Given the description of an element on the screen output the (x, y) to click on. 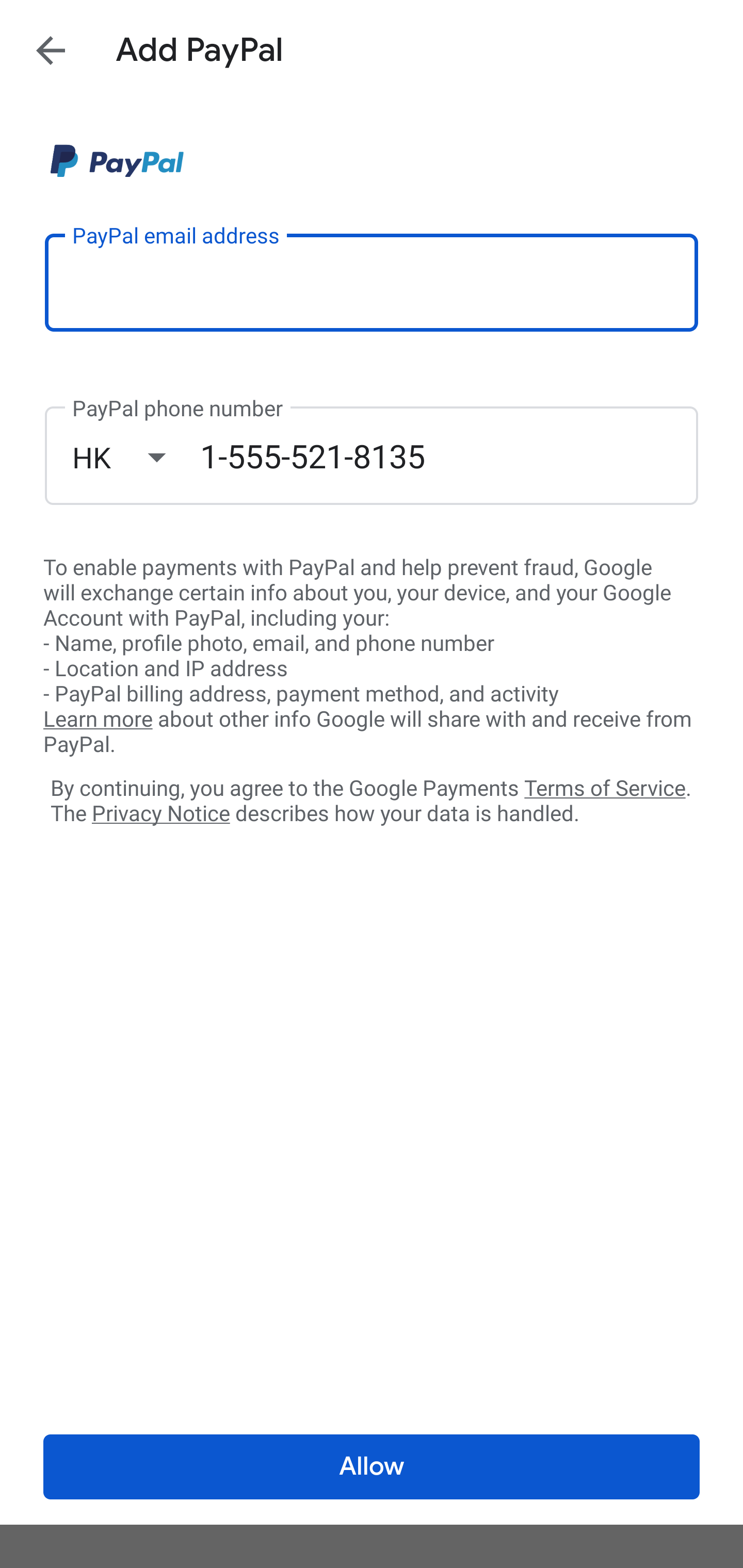
Navigate up (50, 50)
PayPal email address (371, 282)
HK (135, 456)
Learn more (97, 719)
Terms of Service (604, 787)
Privacy Notice (160, 814)
Allow (371, 1466)
